Given the description of an element on the screen output the (x, y) to click on. 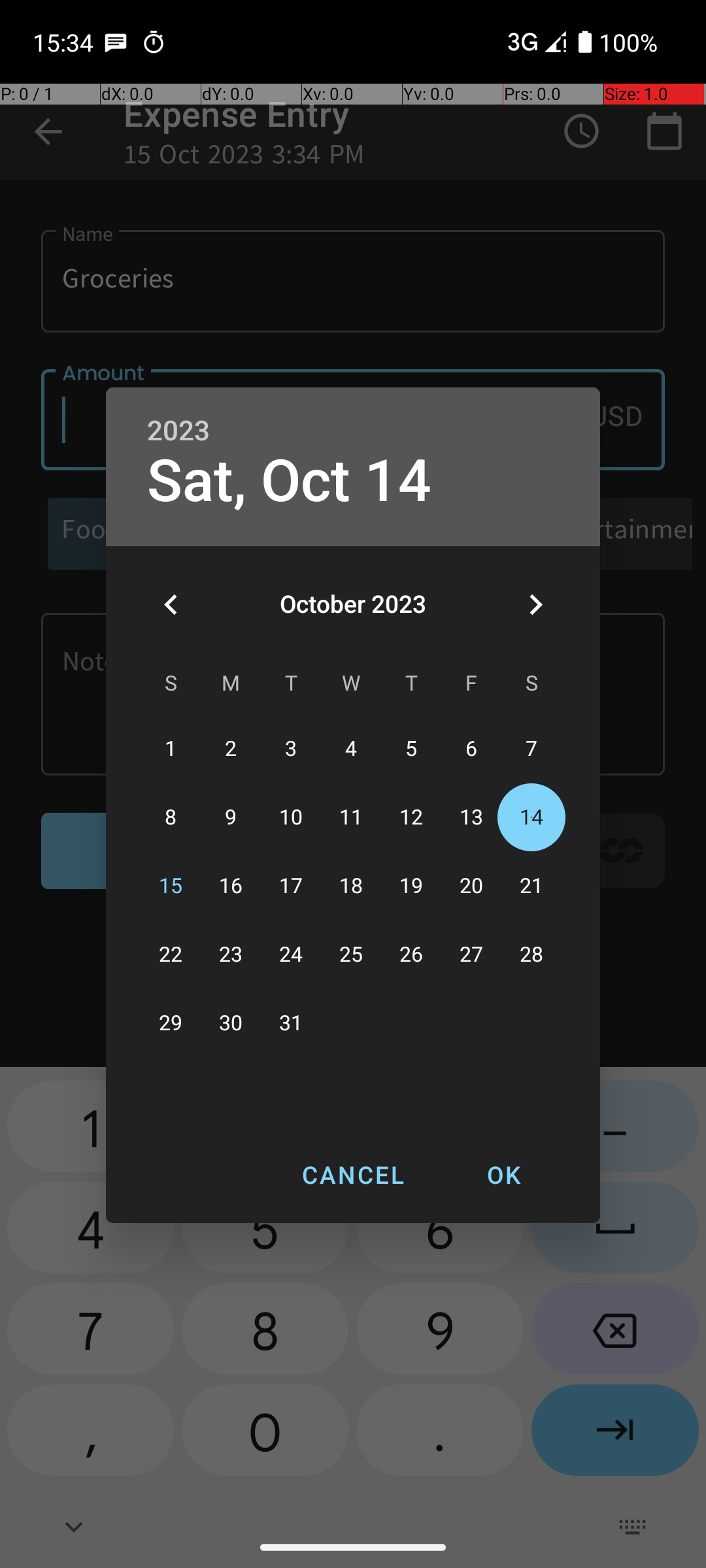
2023 Element type: android.widget.TextView (178, 430)
Sat, Oct 14 Element type: android.widget.TextView (289, 480)
Previous month Element type: android.widget.ImageButton (170, 604)
Next month Element type: android.widget.ImageButton (535, 604)
13 Element type: android.view.View (471, 817)
14 Element type: android.view.View (531, 817)
16 Element type: android.view.View (230, 885)
17 Element type: android.view.View (290, 885)
18 Element type: android.view.View (350, 885)
21 Element type: android.view.View (531, 885)
22 Element type: android.view.View (170, 954)
23 Element type: android.view.View (230, 954)
24 Element type: android.view.View (290, 954)
26 Element type: android.view.View (411, 954)
27 Element type: android.view.View (471, 954)
28 Element type: android.view.View (531, 954)
29 Element type: android.view.View (170, 1023)
31 Element type: android.view.View (290, 1023)
